Given the description of an element on the screen output the (x, y) to click on. 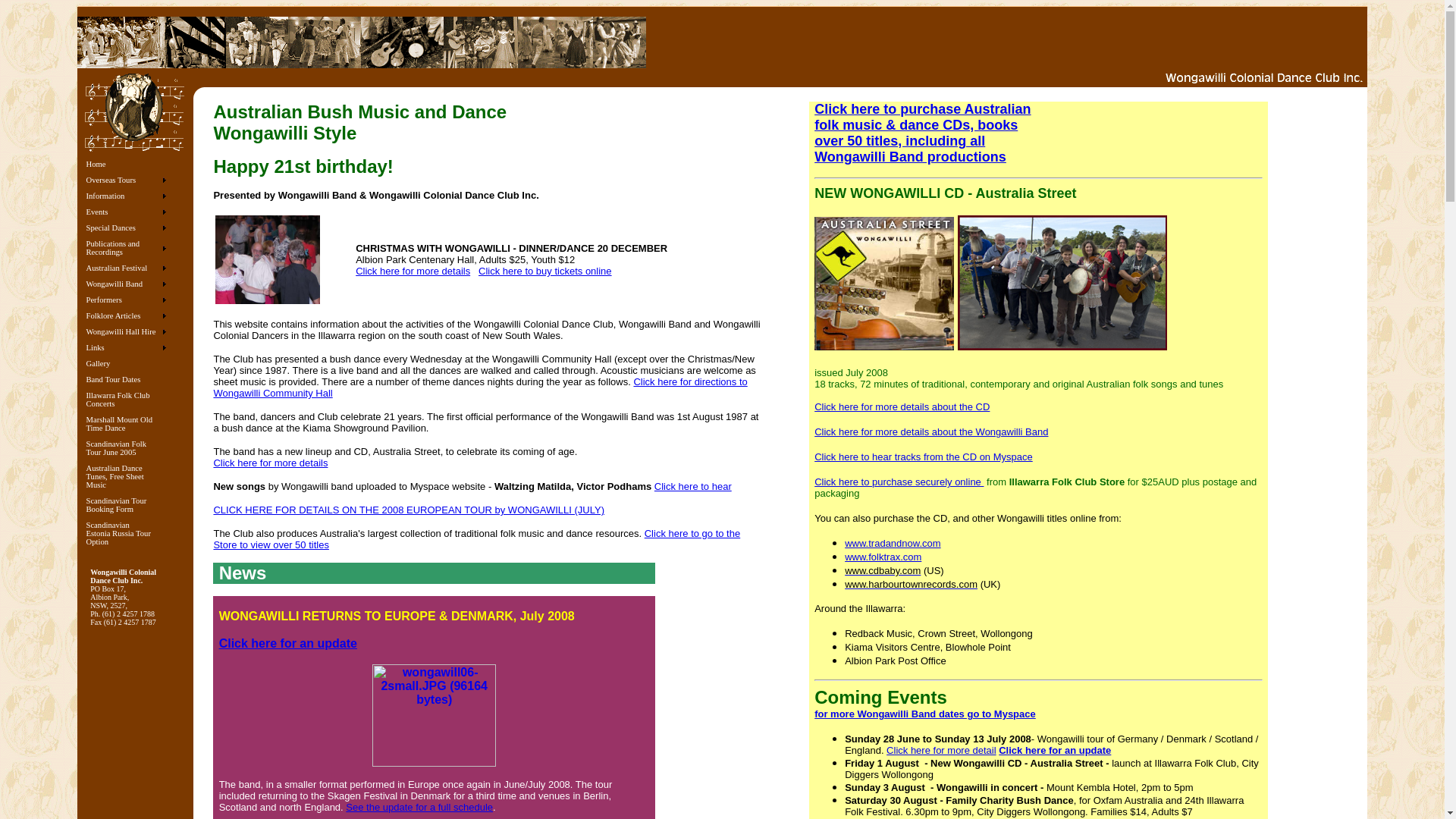
Wongawilli Band Element type: text (126, 283)
Home Element type: text (126, 163)
Scandinavian Tour
Booking Form Element type: text (126, 504)
Click here for more details Element type: text (270, 462)
Links Element type: text (125, 347)
Click here for more details Element type: text (412, 270)
Home Element type: text (125, 163)
Overseas Tours Element type: text (125, 179)
Click here for an update Element type: text (1054, 749)
Publications and
Recordings Element type: text (125, 247)
Events Element type: text (125, 211)
Click here for more detail Element type: text (941, 749)
Click here for an update Element type: text (288, 643)
Gallery Element type: text (126, 363)
Scandinavian
Estonia Russia Tour
Option Element type: text (125, 533)
Click here to purchase securely online Element type: text (898, 481)
Band Tour Dates Element type: text (126, 379)
Click here to hear tracks from the CD on Myspace Element type: text (923, 455)
Links Element type: text (126, 347)
Performers Element type: text (126, 299)
www.folktrax.com Element type: text (882, 556)
Folklore Articles Element type: text (125, 315)
Click here for more details about the Wongawilli Band Element type: text (931, 431)
Marshall Mount Old
Time Dance Element type: text (125, 423)
Gallery Element type: text (125, 363)
www.tradandnow.com Element type: text (892, 543)
Click here to hear Element type: text (692, 486)
Folklore Articles Element type: text (126, 315)
Australian Dance
Tunes, Free Sheet
Music Element type: text (125, 476)
www.cdbaby.com Element type: text (882, 570)
Illawarra Folk Club
Concerts Element type: text (125, 399)
Events Element type: text (126, 211)
Overseas Tours Element type: text (126, 179)
www.harbourtownrecords.com Element type: text (910, 583)
Click here to buy tickets online Element type: text (544, 270)
Scandinavian Folk
Tour June 2005 Element type: text (125, 447)
Performers Element type: text (125, 299)
Australian Festival Element type: text (125, 267)
Wongawilli Hall Hire Element type: text (125, 331)
Wongawilli Band Element type: text (125, 283)
Special Dances Element type: text (126, 227)
Scandinavian
Estonia Russia Tour
Option Element type: text (126, 533)
Special Dances Element type: text (125, 227)
Wongawilli Hall Hire Element type: text (126, 331)
Australian Festival Element type: text (126, 267)
Scandinavian Folk
Tour June 2005 Element type: text (126, 447)
Scandinavian Tour
Booking Form Element type: text (125, 504)
Illawarra Folk Club
Concerts Element type: text (126, 399)
Information Element type: text (125, 195)
Click here for directions to Wongawilli Community Hall Element type: text (479, 387)
Marshall Mount Old
Time Dance Element type: text (126, 423)
Click here to go to the Store to view over 50 titles Element type: text (476, 538)
Publications and
Recordings Element type: text (126, 247)
Band Tour Dates Element type: text (125, 379)
Australian Dance
Tunes, Free Sheet
Music Element type: text (126, 476)
Click here for more details about the CD Element type: text (901, 406)
See the update for a full schedule Element type: text (418, 806)
for more Wongawilli Band dates go to Myspace Element type: text (924, 713)
Information Element type: text (126, 195)
